Given the description of an element on the screen output the (x, y) to click on. 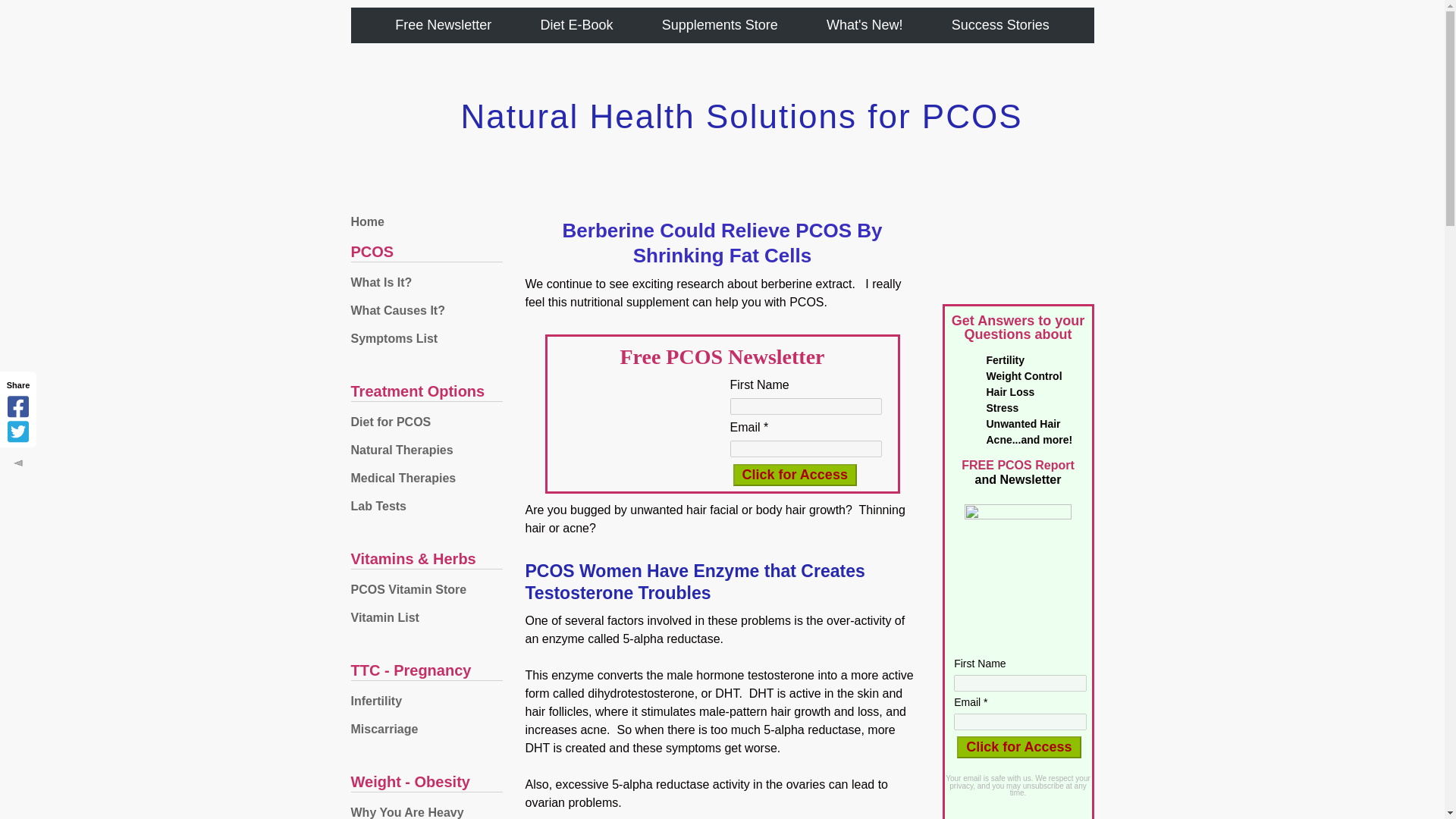
Diet E-Book (576, 24)
Symptoms List (426, 338)
Vitamin List (426, 617)
Infertility (426, 701)
Supplements Store (719, 24)
Medical Therapies (426, 478)
Success Stories (1000, 24)
Natural Therapies (426, 450)
Click for Access (794, 475)
Miscarriage (426, 729)
Why You Are Heavy (426, 809)
What's New! (864, 24)
Diet for PCOS (426, 421)
Home (426, 222)
What Is It? (426, 282)
